Given the description of an element on the screen output the (x, y) to click on. 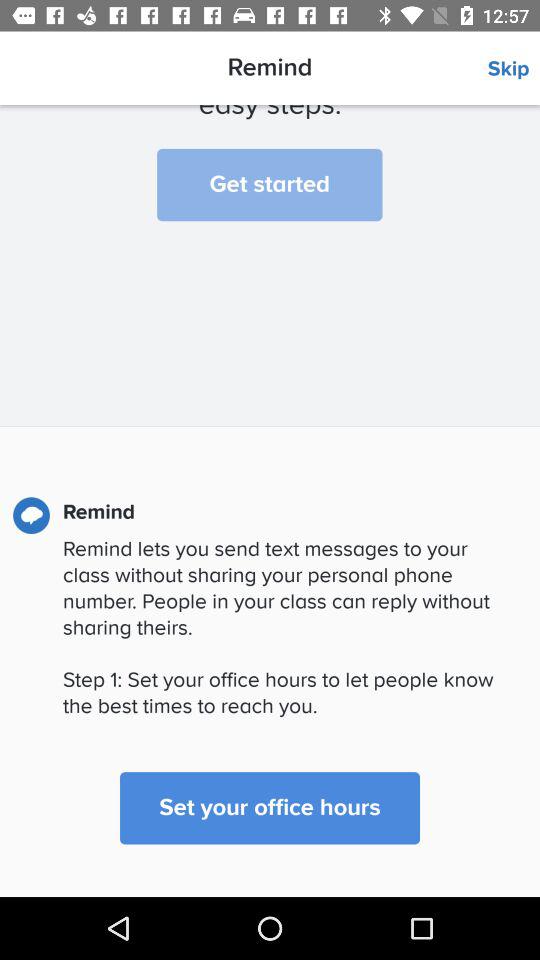
choose get started icon (269, 184)
